Given the description of an element on the screen output the (x, y) to click on. 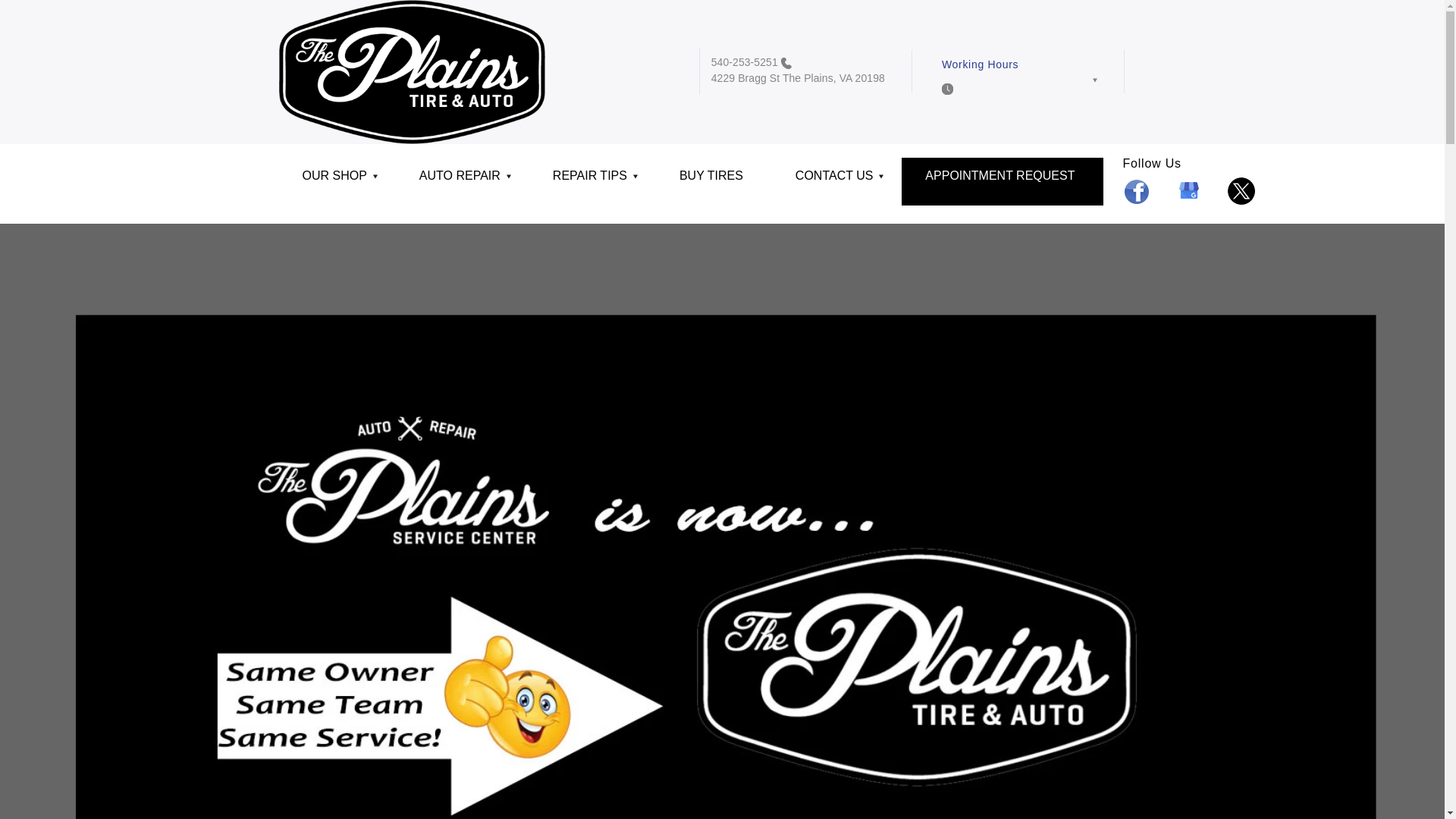
CONTACT US (836, 181)
AUTO REPAIR (462, 181)
BUY TIRES (713, 181)
OUR SHOP (337, 181)
APPOINTMENT REQUEST (1002, 181)
REPAIR TIPS (592, 181)
540-253-5251 (744, 61)
